Given the description of an element on the screen output the (x, y) to click on. 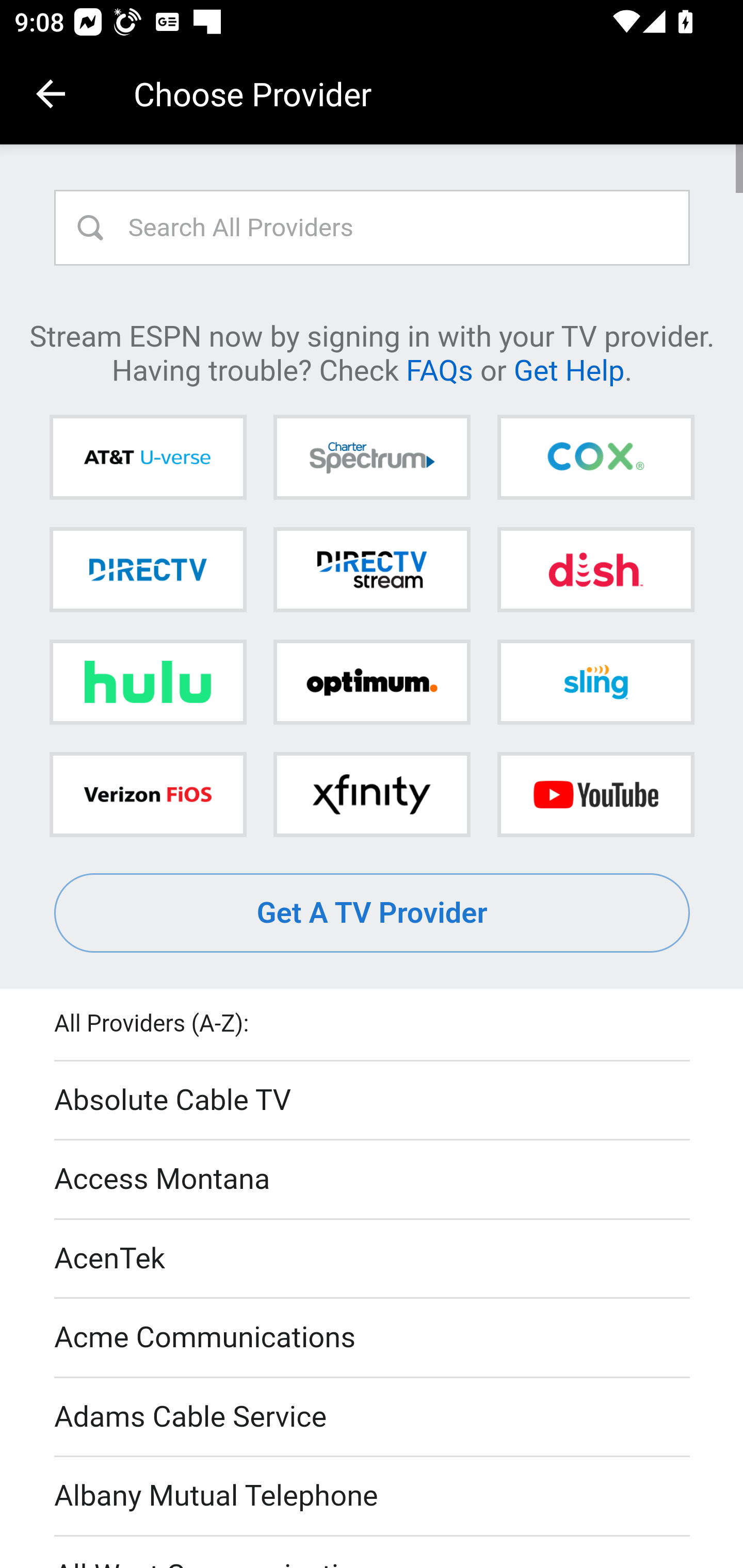
Navigate up (50, 93)
FAQs (438, 369)
Get Help (569, 369)
AT&T U-verse (147, 457)
Charter Spectrum (371, 457)
Cox (595, 457)
DIRECTV (147, 568)
DIRECTV STREAM (371, 568)
DISH (595, 568)
Hulu (147, 681)
Optimum (371, 681)
Sling TV (595, 681)
Verizon FiOS (147, 793)
Xfinity (371, 793)
YouTube TV (595, 793)
Get A TV Provider (372, 912)
Absolute Cable TV (372, 1100)
Access Montana (372, 1178)
AcenTek (372, 1258)
Acme Communications (372, 1338)
Adams Cable Service (372, 1417)
Albany Mutual Telephone (372, 1497)
